Given the description of an element on the screen output the (x, y) to click on. 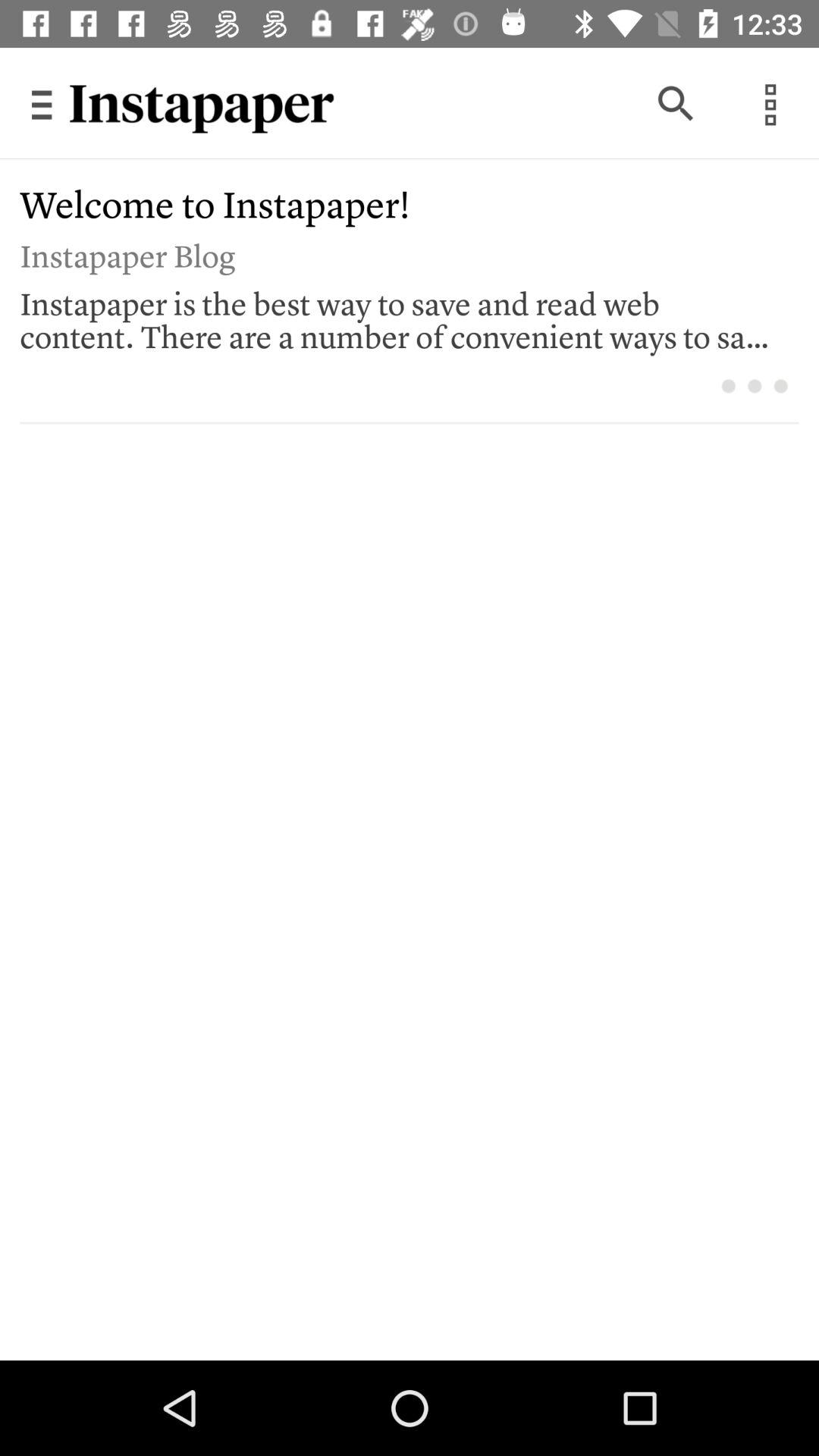
jump until the instapaper blog (399, 253)
